Given the description of an element on the screen output the (x, y) to click on. 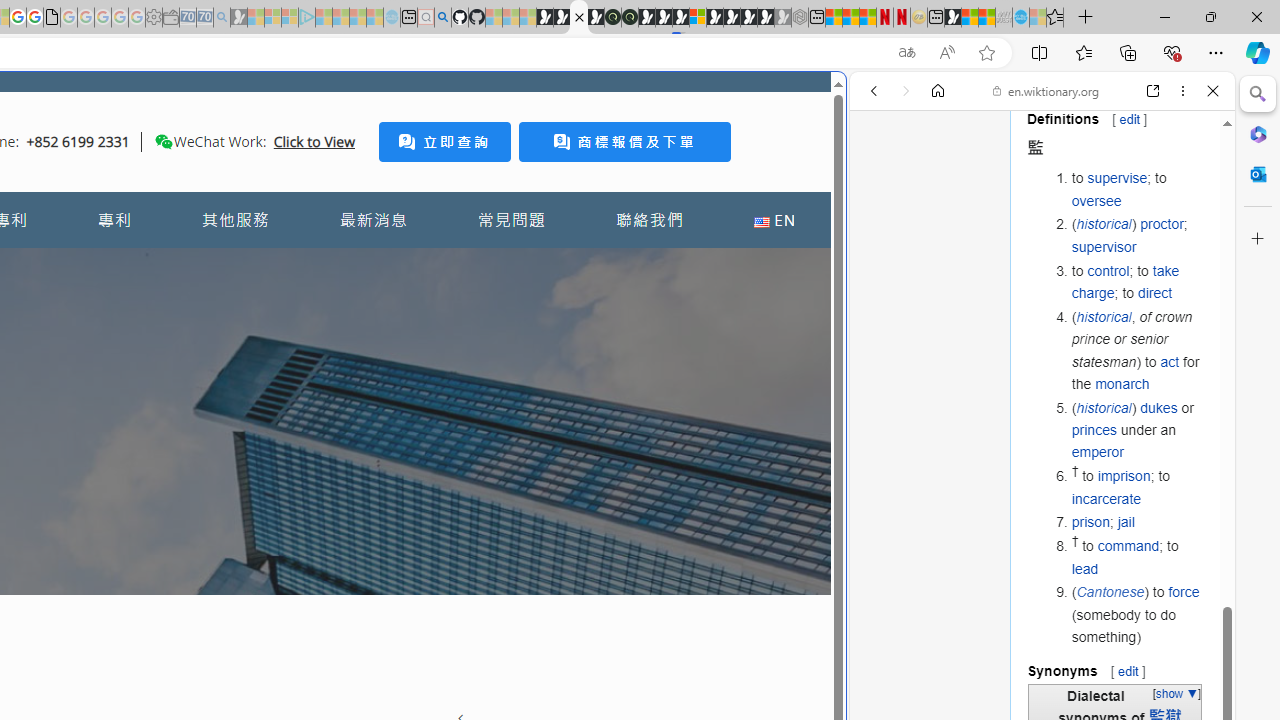
IMAGES (939, 228)
(Cantonese) to force(somebody to do something) (1137, 614)
Preferences (1189, 228)
Browser essentials (1171, 52)
MSN (952, 17)
This site scope (936, 180)
to control; to take charge; to direct (1137, 282)
More options (1182, 91)
proctor (1162, 224)
New Tab (1085, 17)
